Given the description of an element on the screen output the (x, y) to click on. 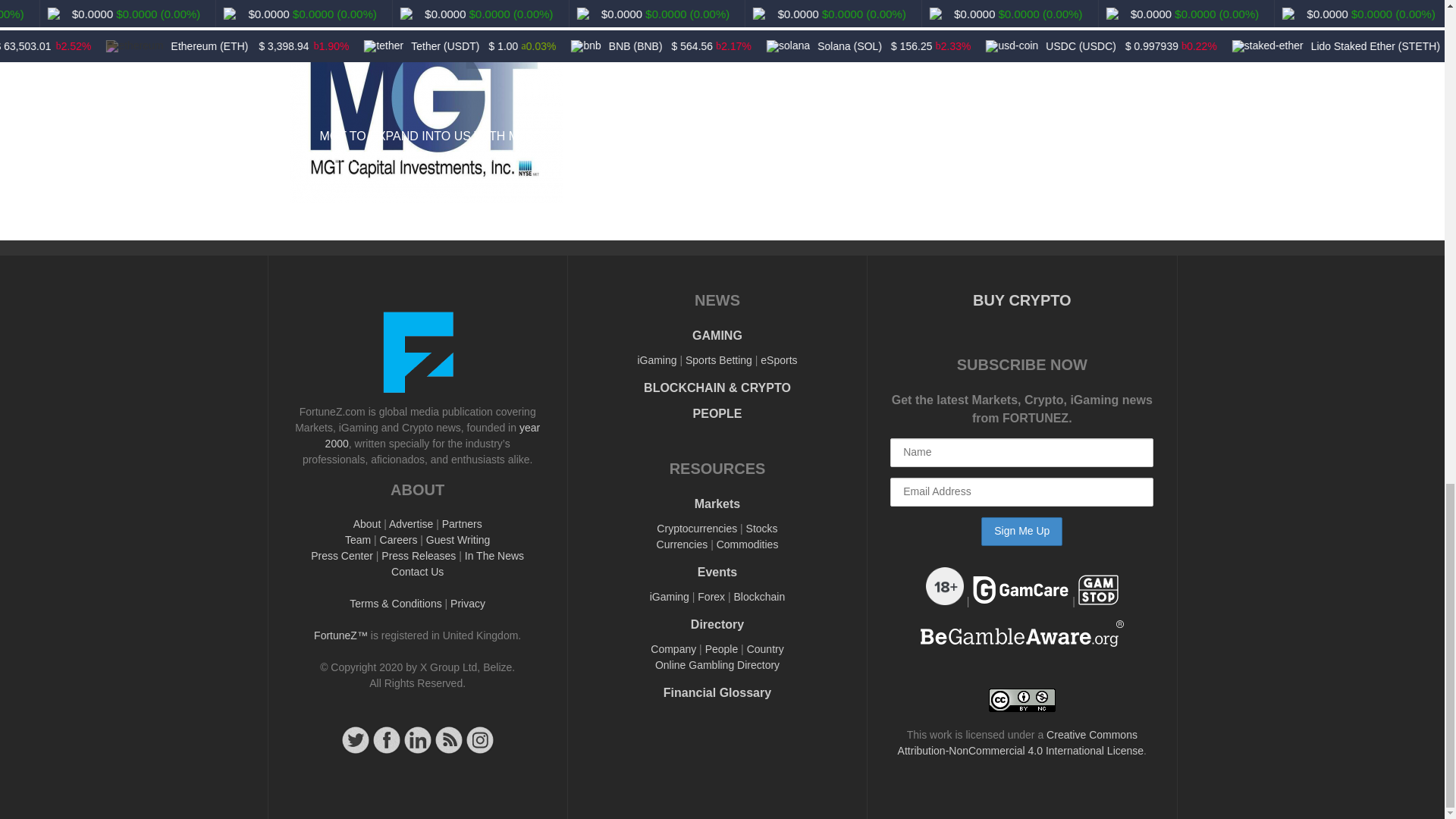
Visit Us On Twitter (355, 751)
Visit Us On Linkedin (416, 751)
Sign Me Up (1021, 531)
Visit Us On Facebook (386, 751)
